Given the description of an element on the screen output the (x, y) to click on. 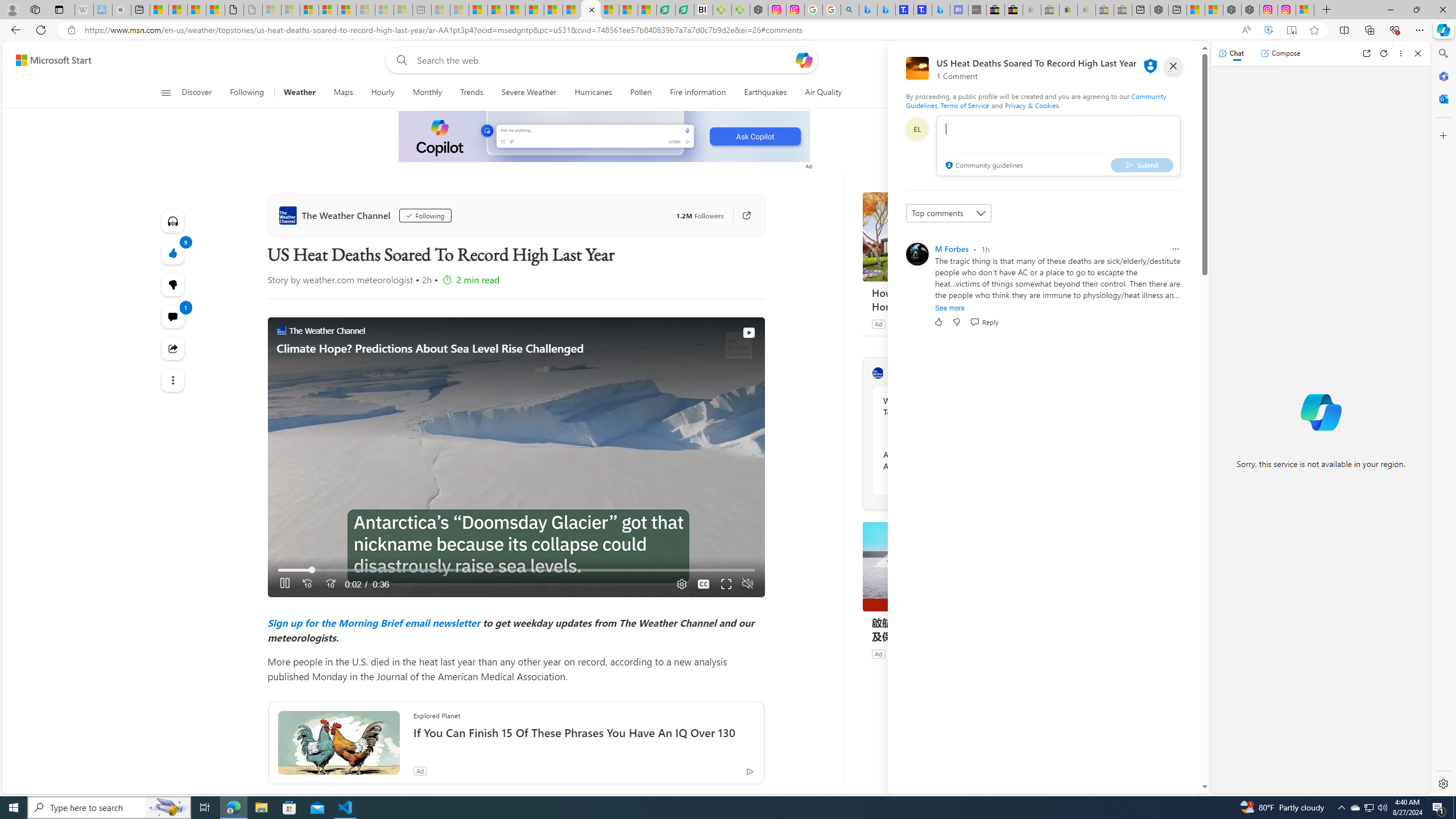
Earthquakes (765, 92)
Class: at-item (172, 380)
Pollen (641, 92)
M Forbes (951, 248)
Go to publisher's site (740, 215)
9 (172, 284)
Maps (343, 92)
Trends (471, 92)
View on Watch View on Watch (722, 332)
